Given the description of an element on the screen output the (x, y) to click on. 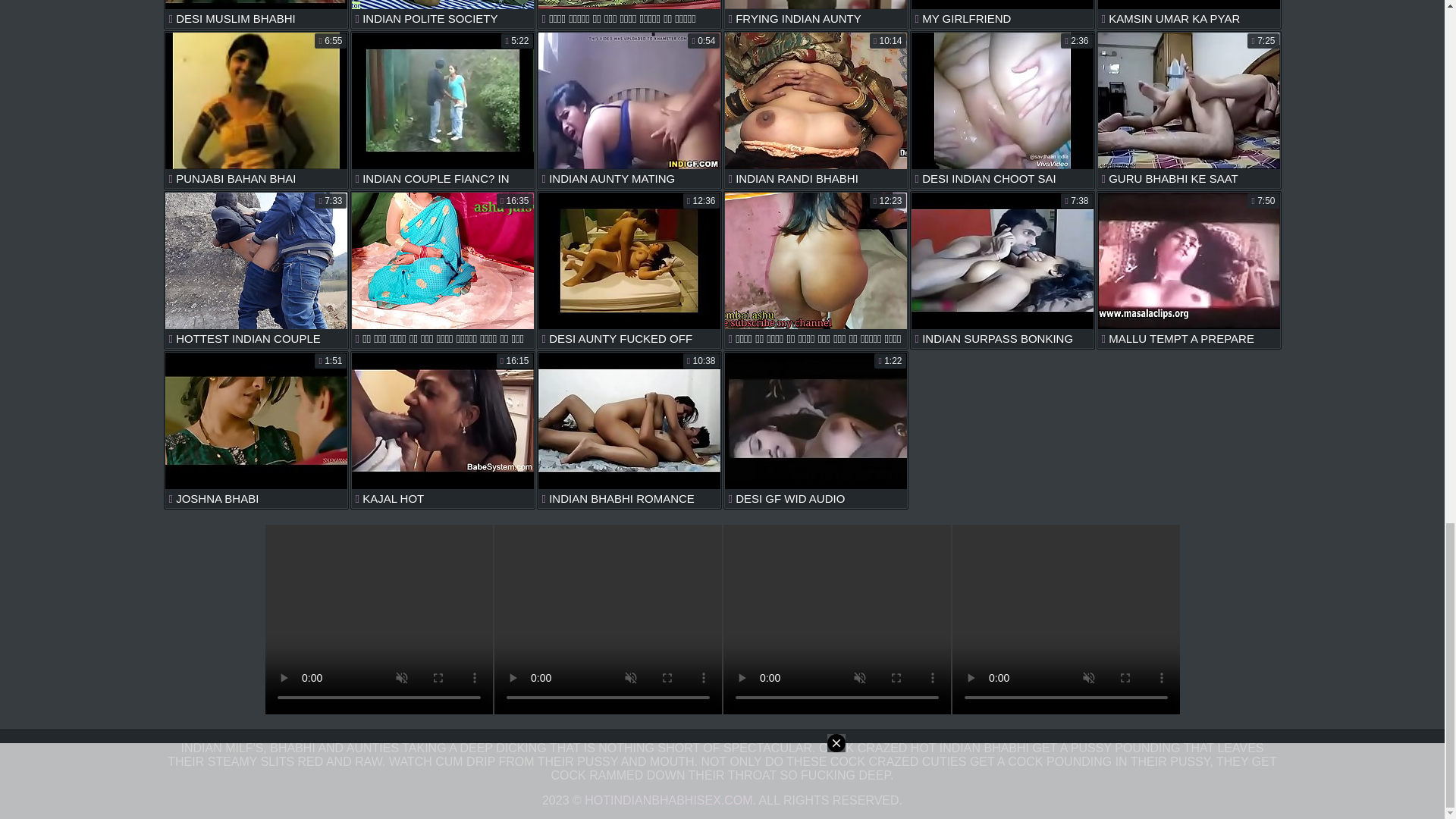
FRYING INDIAN AUNTY (815, 14)
MY GIRLFRIEND (1002, 14)
INDIAN COUPLE FIANC? IN THE PURL (442, 110)
DESI INDIAN CHOOT SAI NIKLA CREAM PAANI...ASIAN VITIATE (1002, 110)
KAMSIN UMAR KA PYAR (1188, 14)
GURU BHABHI KE SAAT (1188, 110)
PUNJABI BAHAN BHAI HOMEMADE VEDIO (256, 110)
INDIAN AUNTY MATING (629, 110)
